Given the description of an element on the screen output the (x, y) to click on. 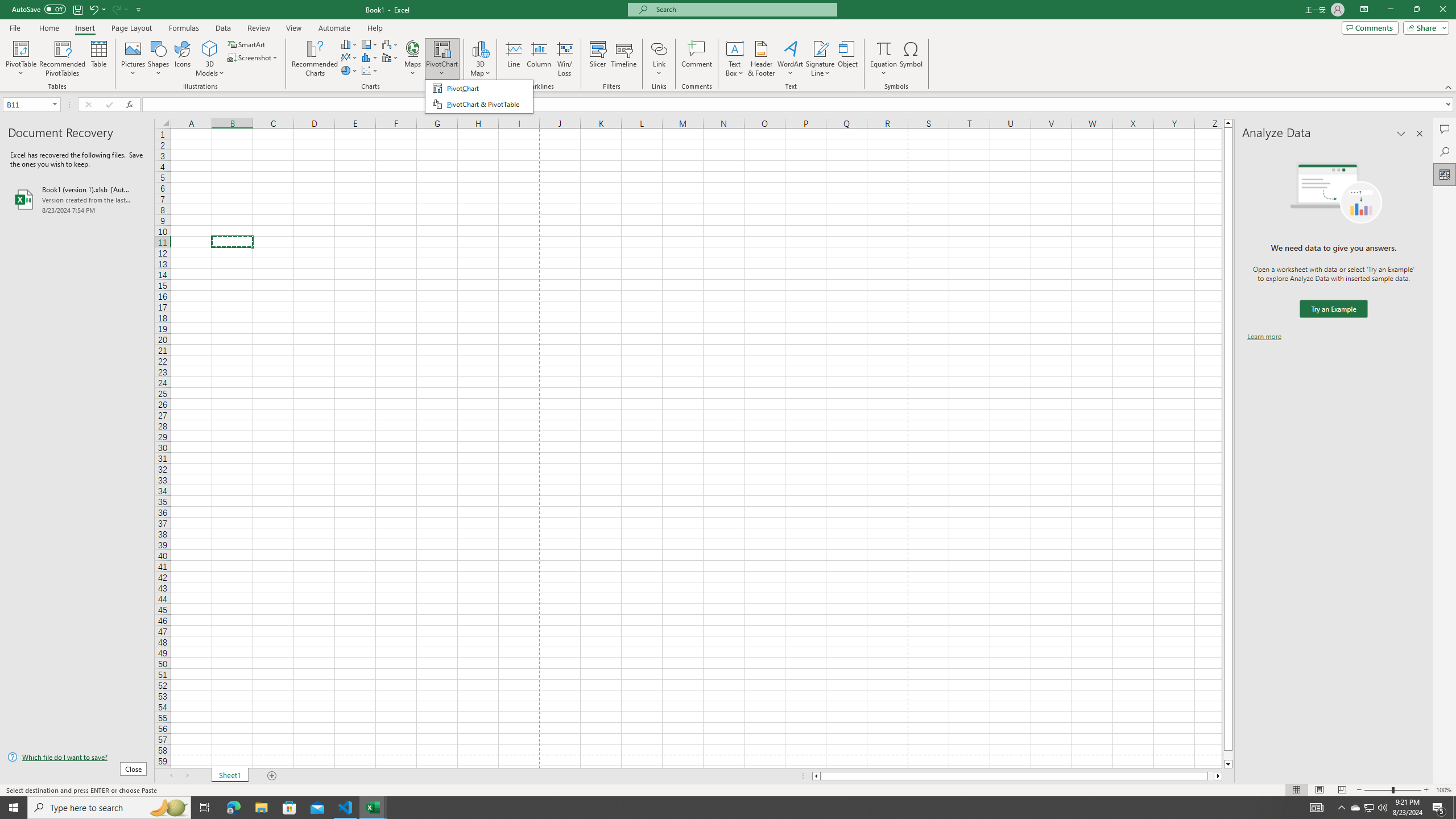
Page down (1228, 755)
Open (54, 104)
3D Models (210, 48)
Insert Column or Bar Chart (349, 44)
Insert Scatter (X, Y) or Bubble Chart (369, 69)
AutoSave (38, 9)
Symbol... (911, 58)
Page Break Preview (1342, 790)
Sheet1 (229, 775)
Column right (1218, 775)
Search highlights icon opens search home window (167, 807)
Screenshot (253, 56)
Microsoft Store (289, 807)
Show desktop (1454, 807)
